Given the description of an element on the screen output the (x, y) to click on. 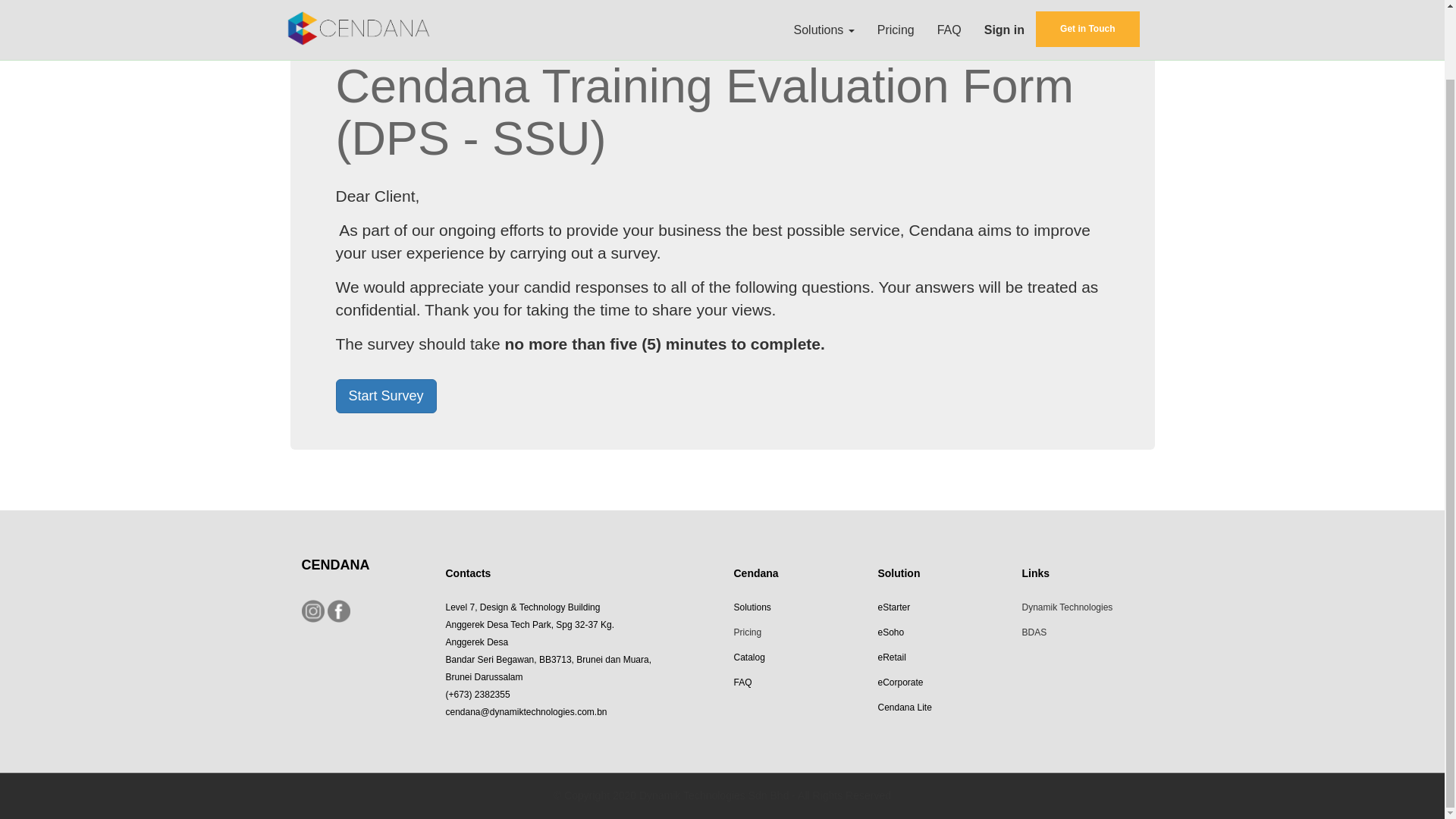
Cendana Lite (904, 706)
eStarter  (894, 605)
Solutions (751, 605)
Catalog (748, 656)
eSoho (890, 631)
Pricing (747, 631)
Start Survey (384, 395)
FAQ (742, 680)
Dynamik Technologies (1067, 605)
eCorporate (900, 680)
BDAS (1034, 631)
eRetail (891, 656)
